Given the description of an element on the screen output the (x, y) to click on. 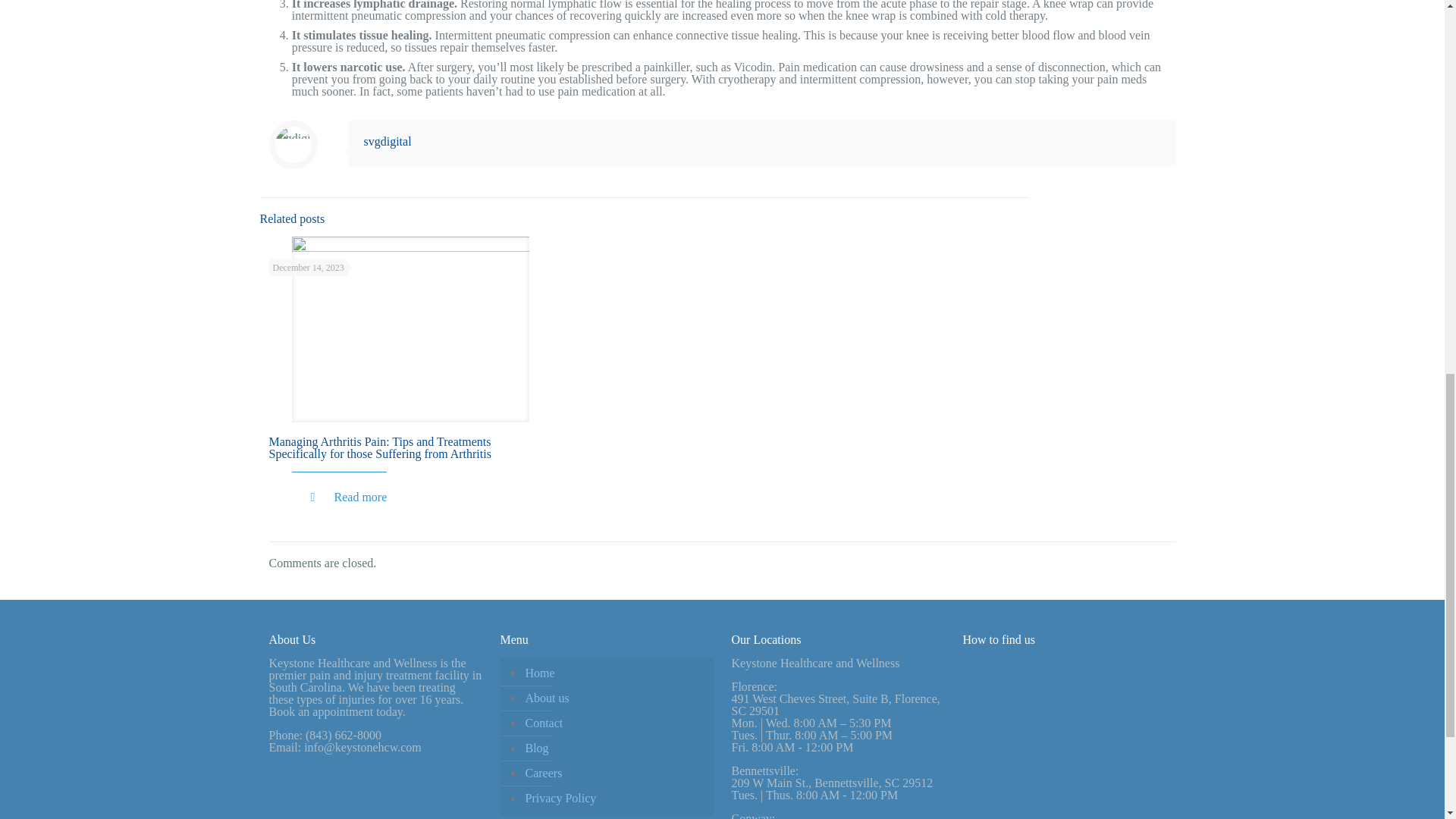
About us (614, 698)
Contact (614, 723)
Read more (346, 497)
Blog (614, 748)
Careers (614, 773)
Privacy Policy (614, 798)
svgdigital (388, 141)
Home (614, 673)
